Given the description of an element on the screen output the (x, y) to click on. 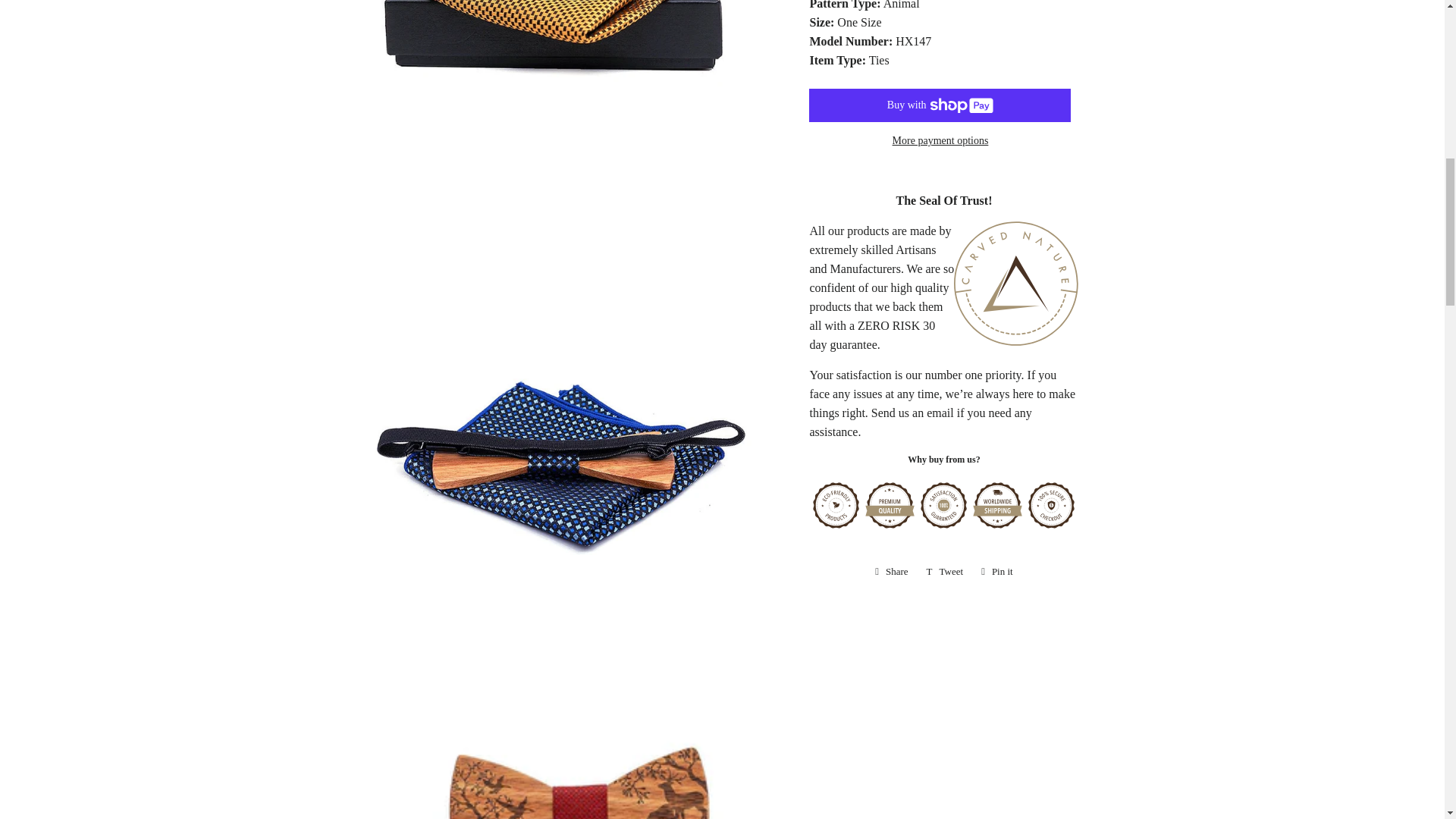
Tweet on Twitter (944, 571)
Pin on Pinterest (997, 571)
Share on Facebook (891, 571)
